Given the description of an element on the screen output the (x, y) to click on. 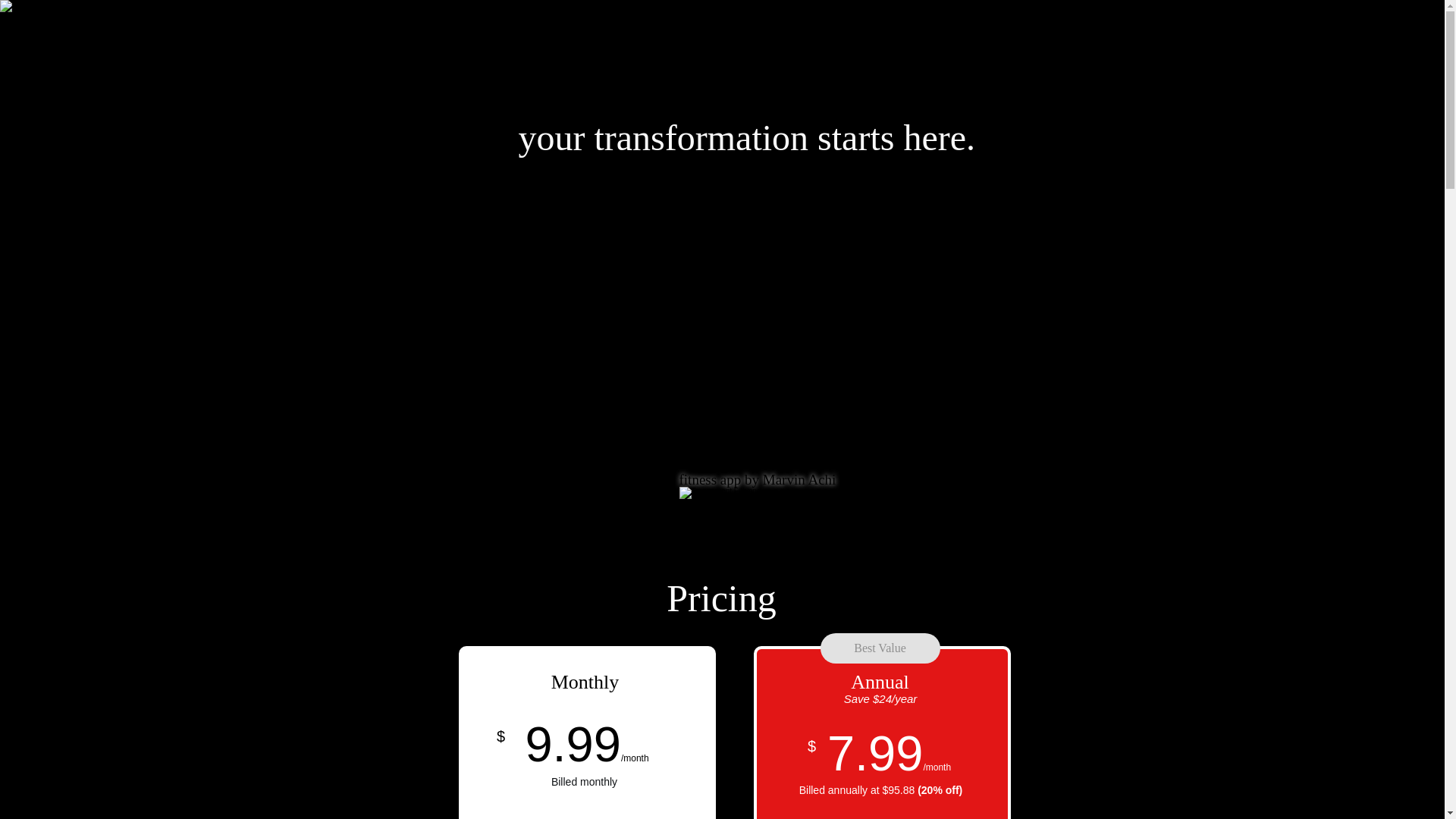
Best Value (880, 648)
